Given the description of an element on the screen output the (x, y) to click on. 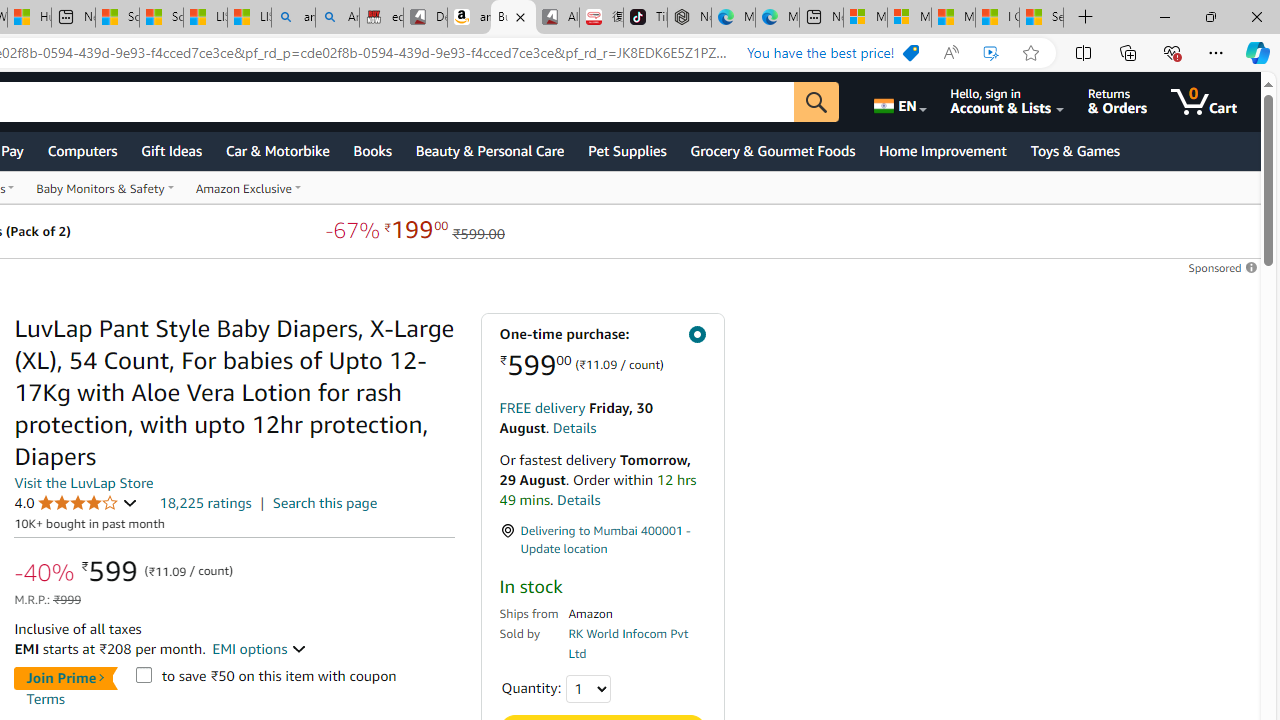
Terms (45, 698)
Go (816, 101)
Join Prime (64, 678)
18,225 ratings (205, 502)
Delivering to Mumbai 400001 - Update location (602, 540)
Pet Supplies (627, 150)
Amazon Echo Dot PNG - Search Images (337, 17)
